Given the description of an element on the screen output the (x, y) to click on. 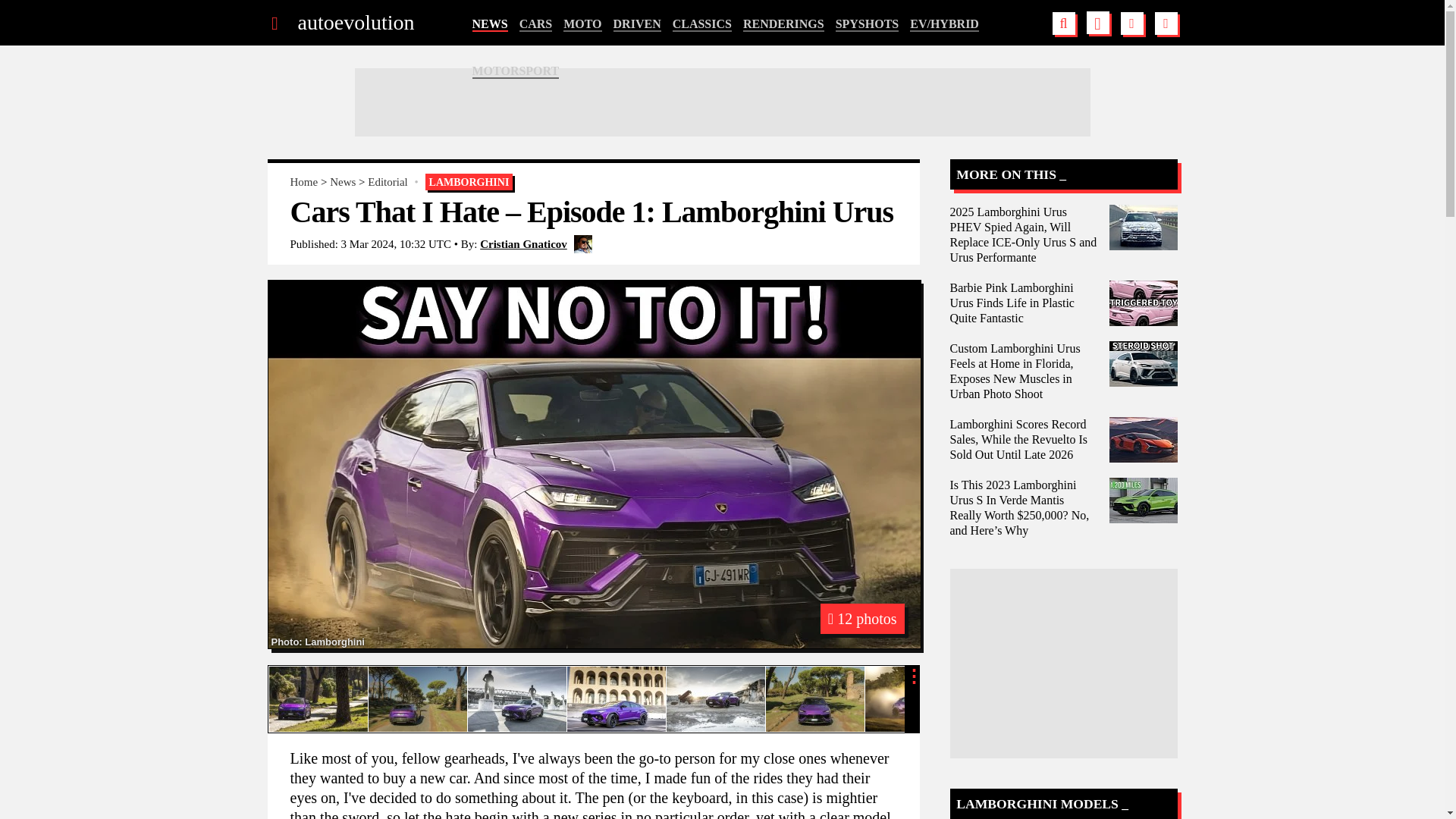
MOTO (582, 24)
Home (303, 182)
Editorial (387, 182)
autoevolution (355, 22)
NEWS (488, 24)
MOTORSPORT (515, 71)
CARS (536, 24)
CLASSICS (702, 24)
autoevolution (355, 22)
DRIVEN (636, 24)
